Given the description of an element on the screen output the (x, y) to click on. 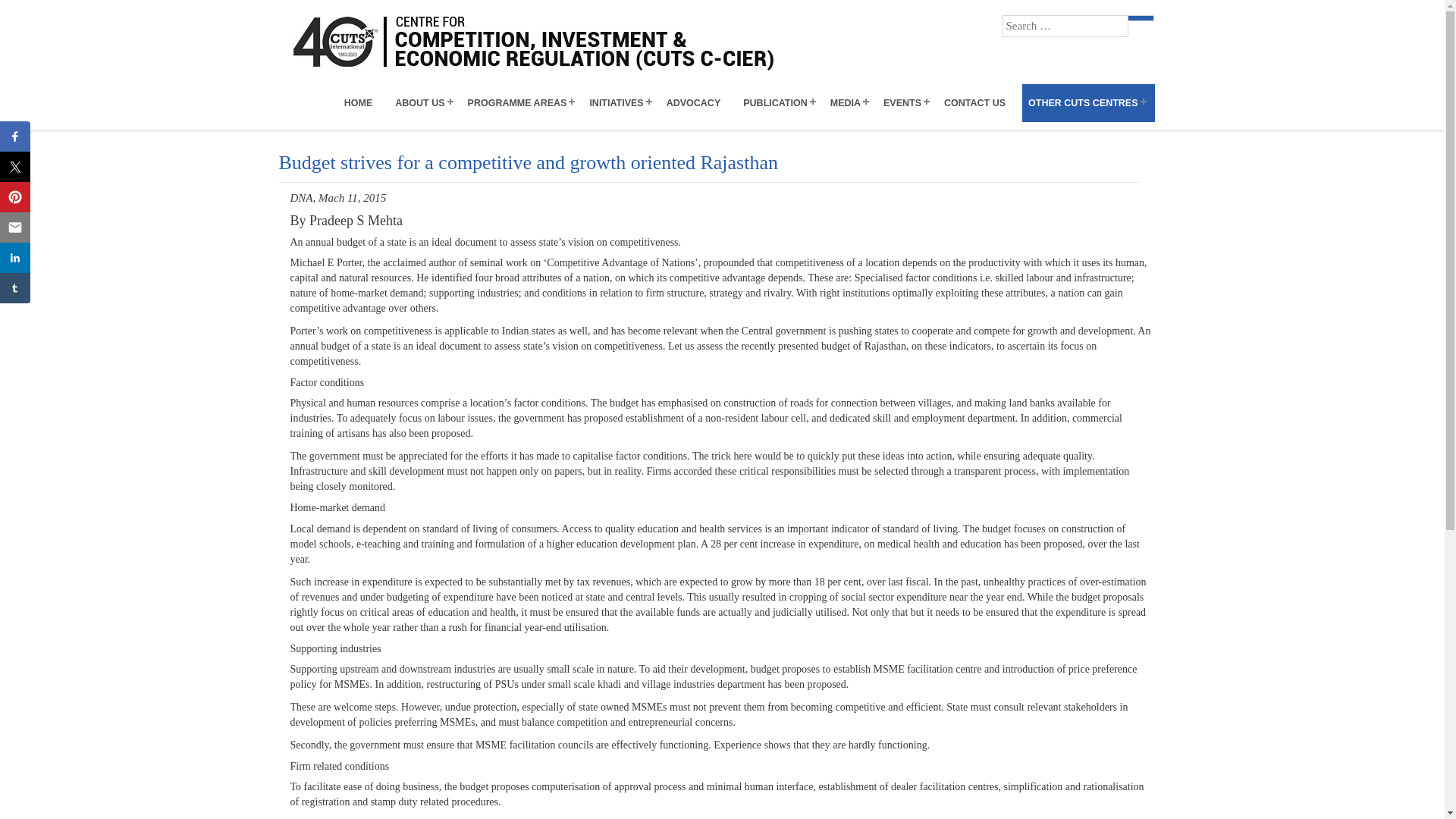
ABOUT US (424, 103)
INITIATIVES (621, 103)
PROGRAMME AREAS (522, 103)
HOME (363, 103)
PUBLICATION (780, 103)
ADVOCACY (699, 103)
